Given the description of an element on the screen output the (x, y) to click on. 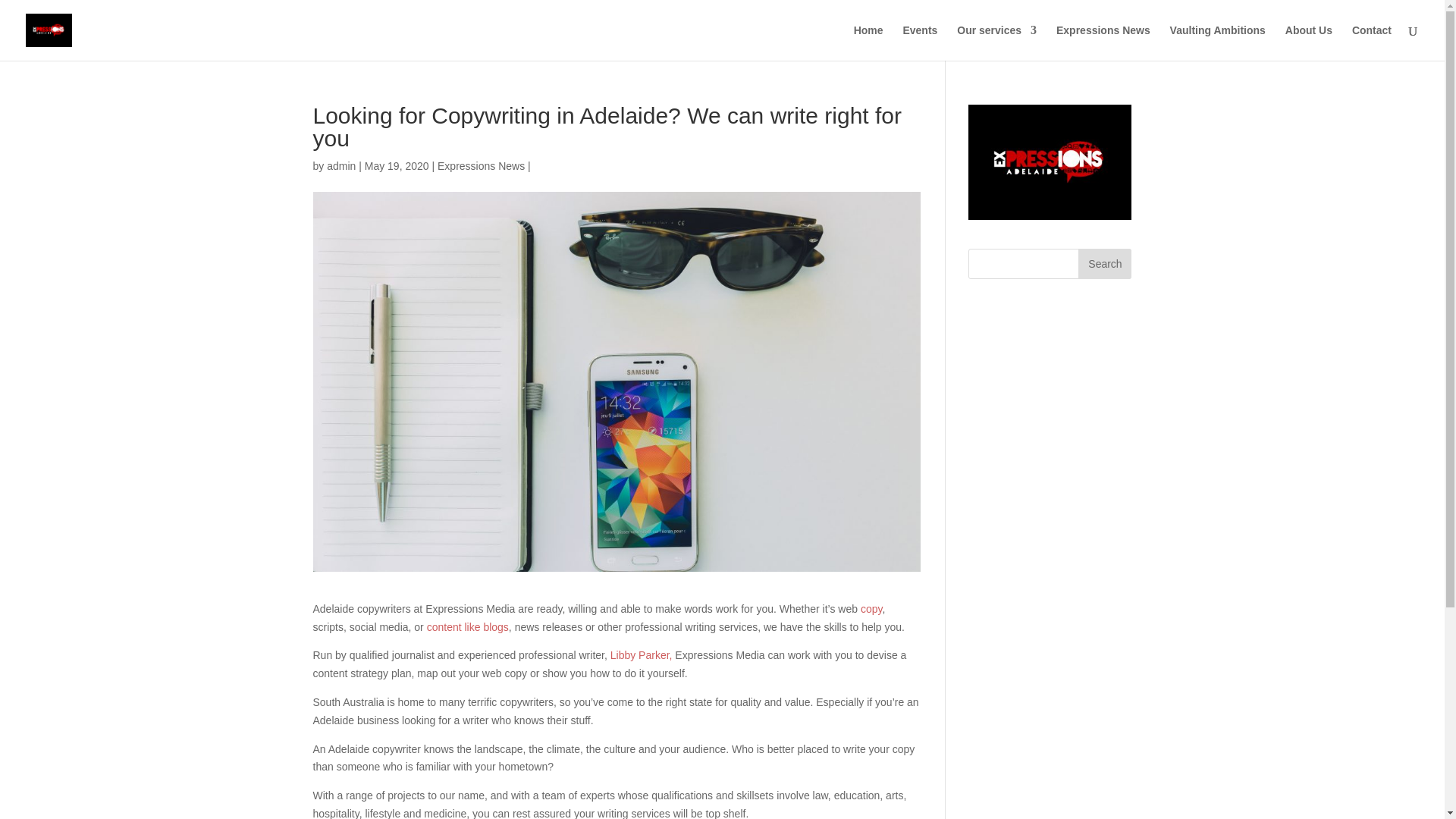
Libby Parker, (641, 654)
Expressions News (481, 165)
content like blogs (467, 626)
Vaulting Ambitions (1217, 42)
Events (919, 42)
copy (871, 608)
Posts by admin (340, 165)
About Us (1308, 42)
Expressions News (1103, 42)
Our services (996, 42)
